Given the description of an element on the screen output the (x, y) to click on. 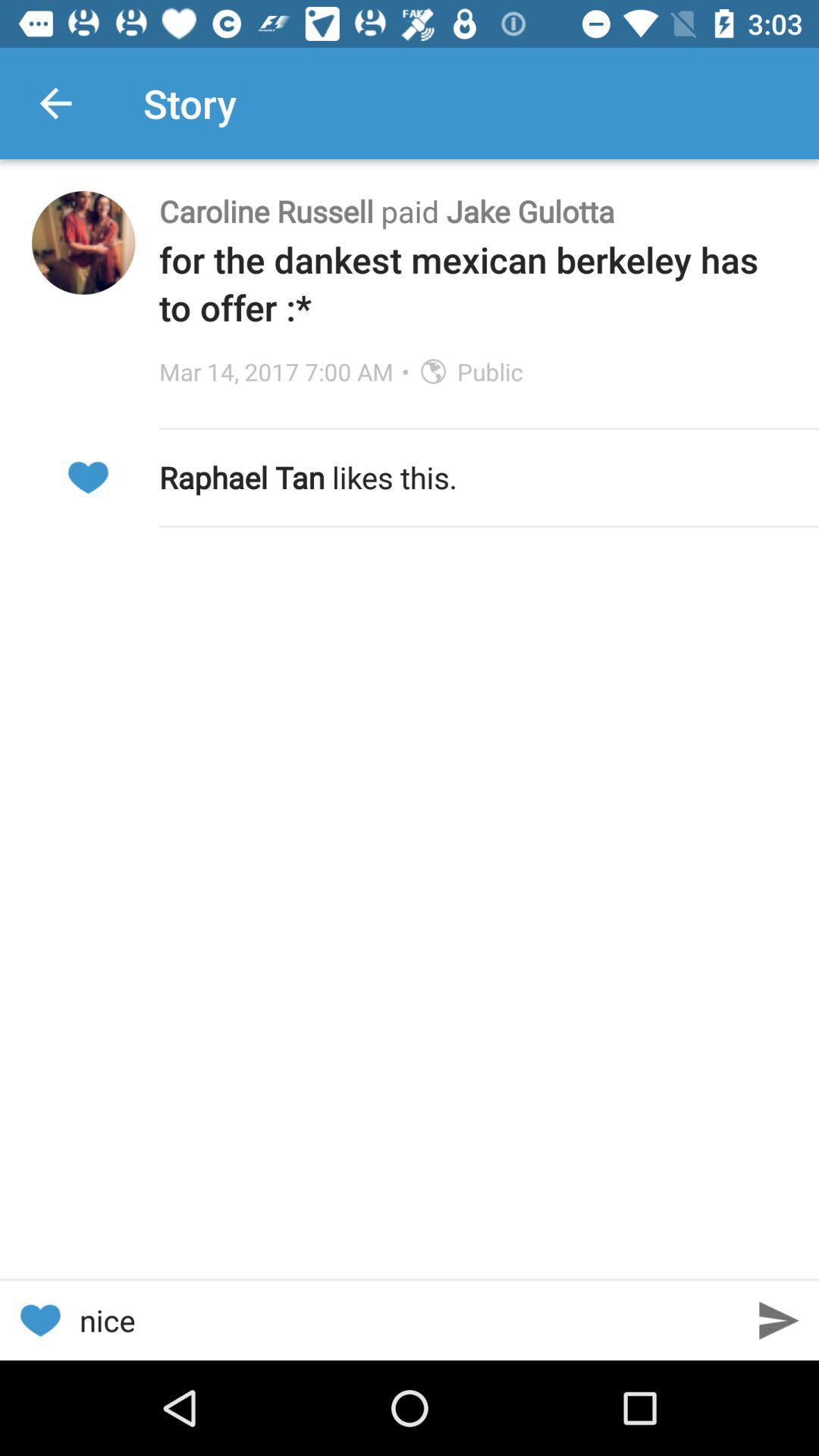
scroll until the caroline russell paid (473, 211)
